Given the description of an element on the screen output the (x, y) to click on. 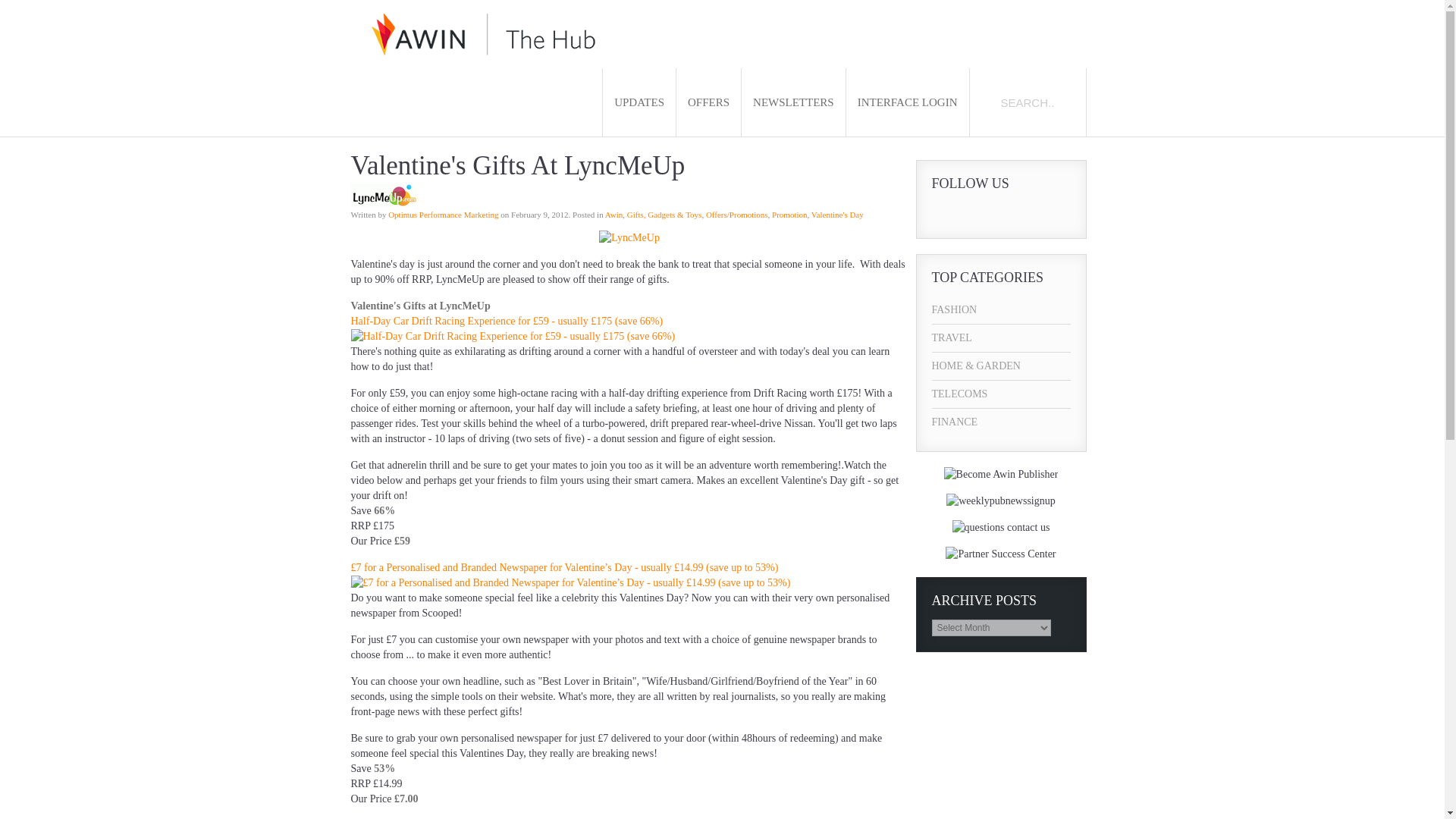
UPDATES (639, 102)
INTERFACE LOGIN (907, 102)
Awin (614, 214)
Reset (3, 2)
OFFERS (708, 102)
NEWSLETTERS (793, 102)
Promotion (788, 214)
Optimus Performance Marketing (442, 214)
FINANCE (1000, 421)
TRAVEL (1000, 338)
